Given the description of an element on the screen output the (x, y) to click on. 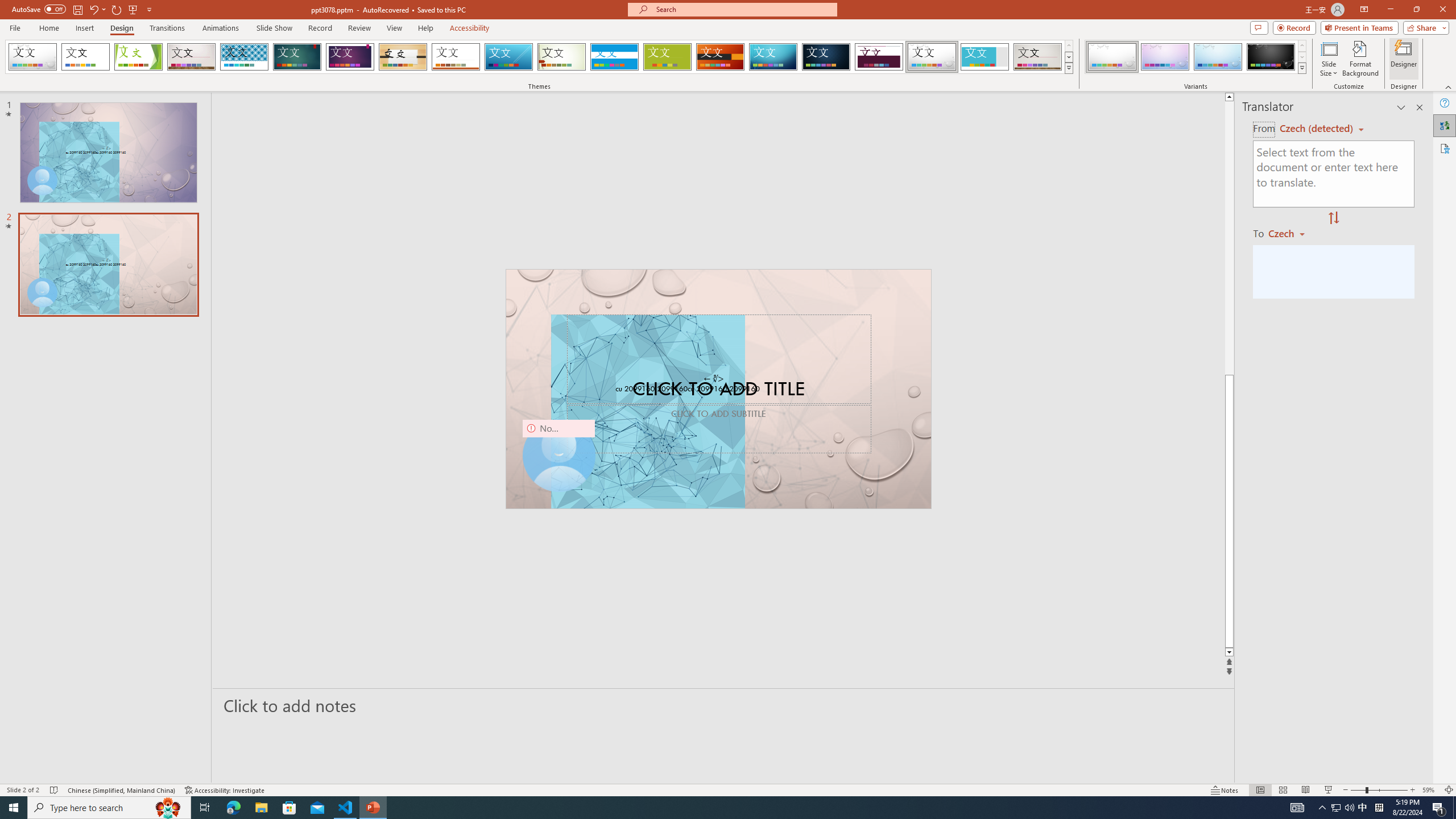
TextBox 7 (713, 378)
Variants (1301, 67)
Ion Boardroom (350, 56)
An abstract genetic concept (718, 388)
Zoom 59% (1430, 790)
